Given the description of an element on the screen output the (x, y) to click on. 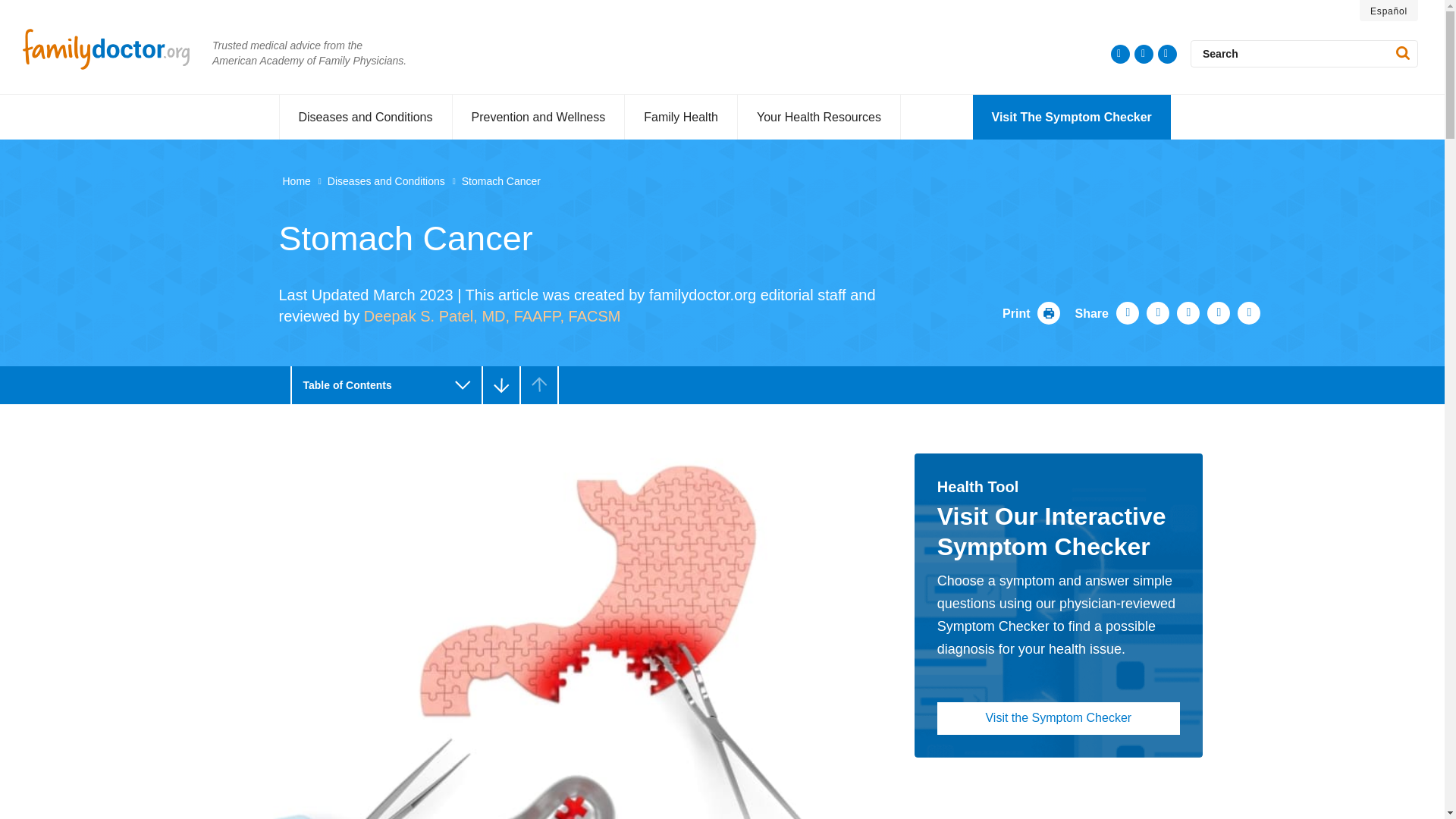
Diseases and Conditions (365, 117)
Go to familydoctor.org Facebook Profile. (1143, 54)
Go to familydoctor.org Home. (121, 48)
Prevention and Wellness (537, 117)
Go to familydoctor.org Twitter Channel. (1119, 54)
Go to familydoctor.org Pinterest Profile. (1166, 54)
Visit the symptom checker (1071, 117)
